Given the description of an element on the screen output the (x, y) to click on. 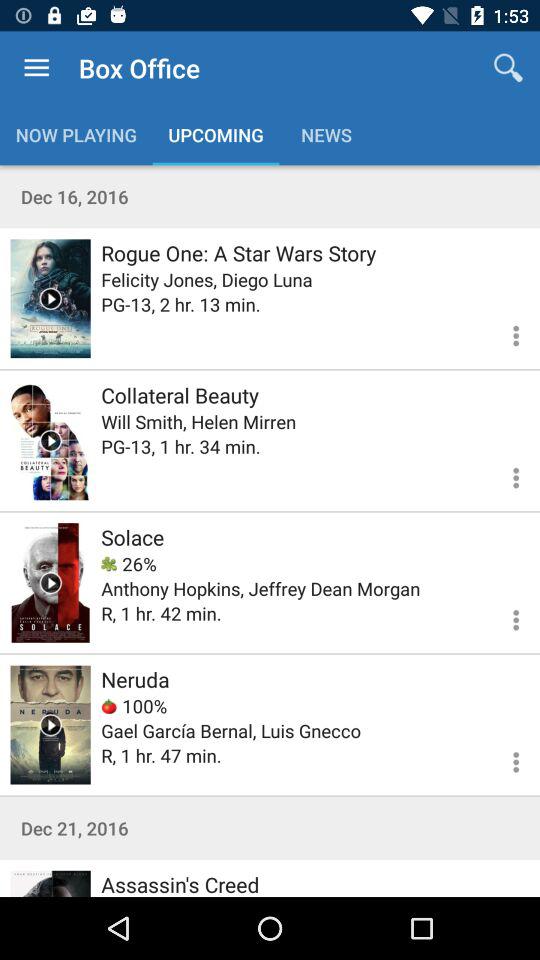
play trailer (50, 298)
